Given the description of an element on the screen output the (x, y) to click on. 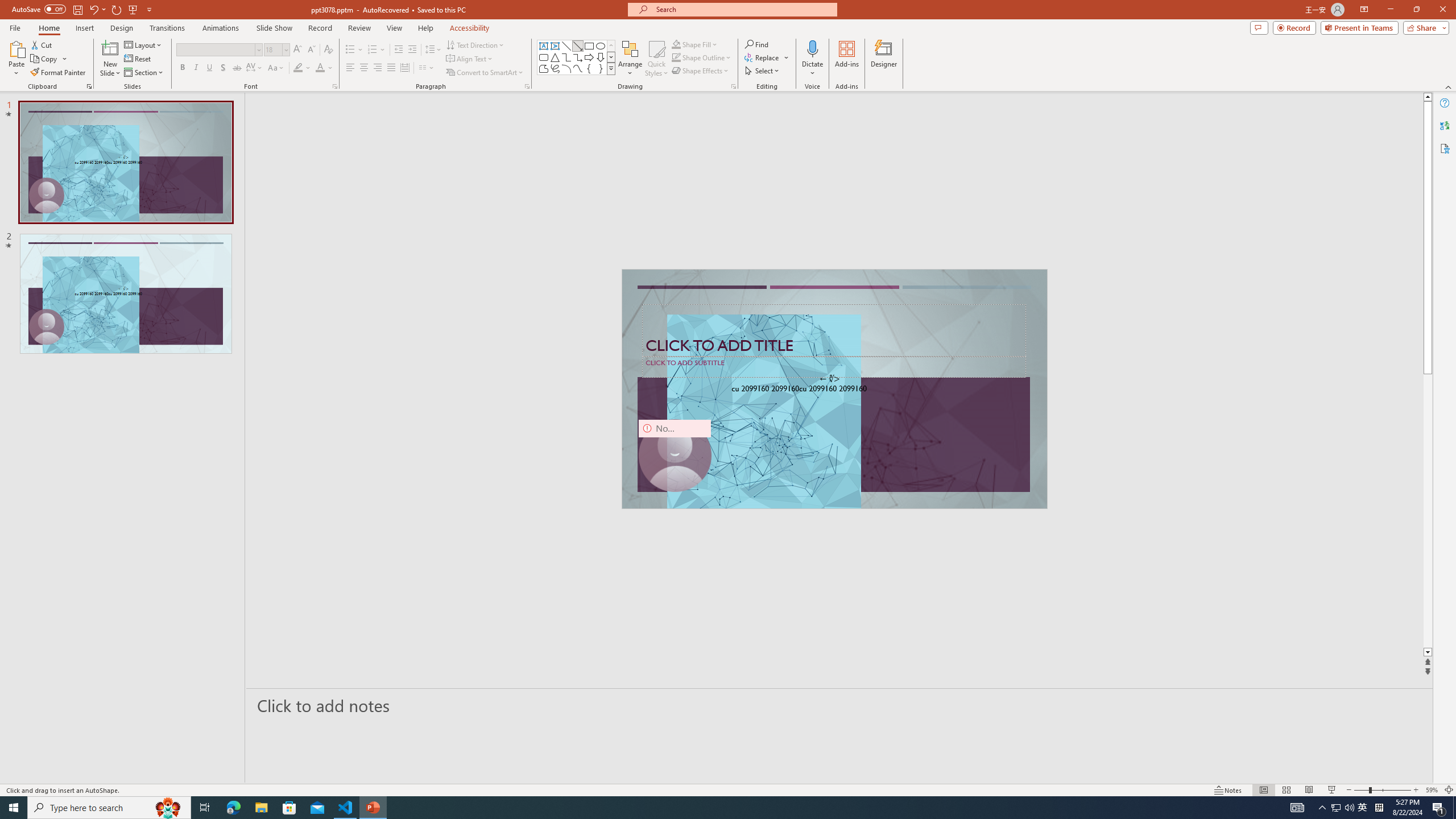
Zoom 59% (1431, 790)
